Given the description of an element on the screen output the (x, y) to click on. 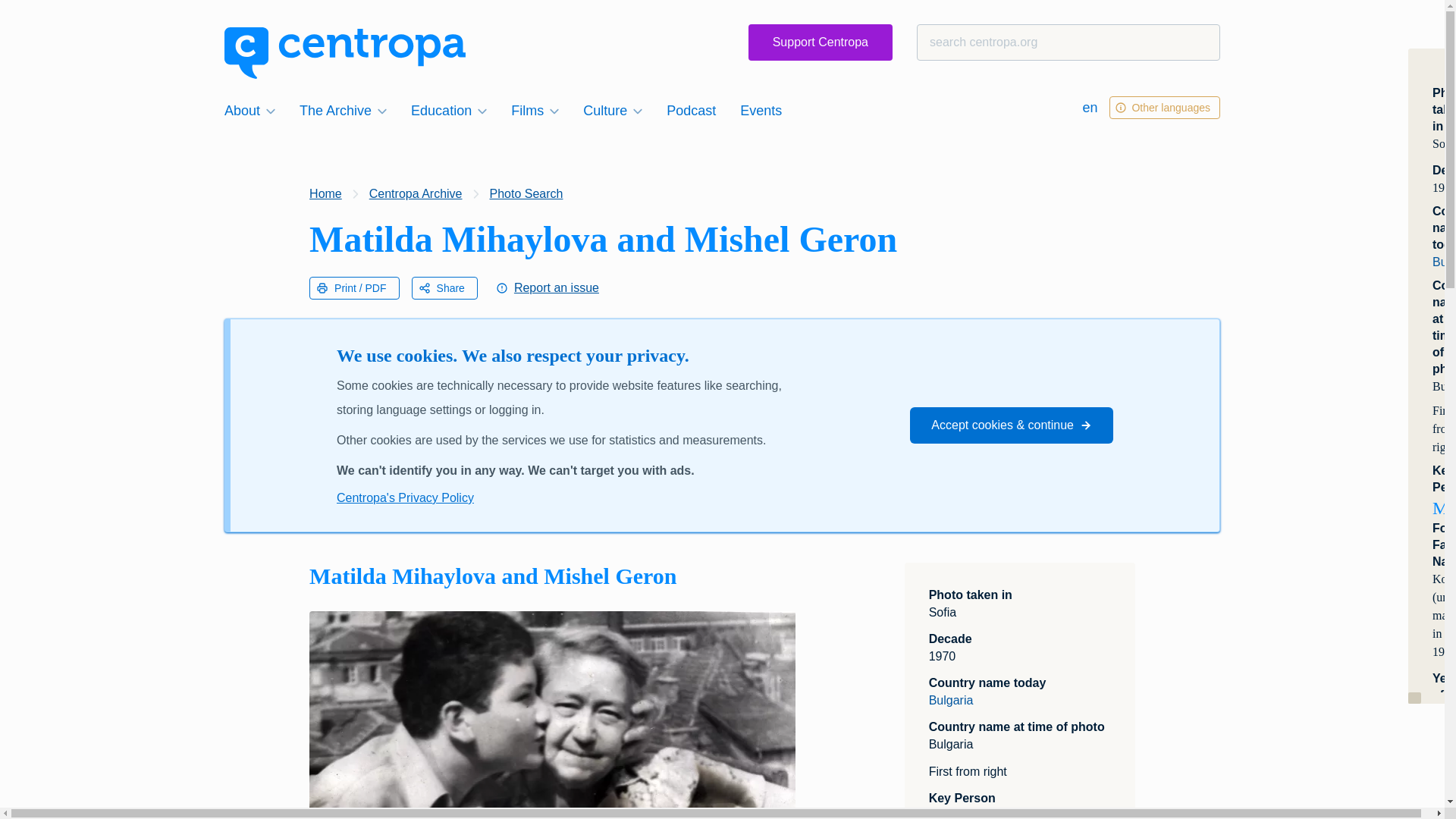
Events (760, 110)
About (249, 110)
Support Centropa (820, 42)
The Archive (343, 110)
Culture (611, 110)
Search (40, 18)
Education (448, 110)
Films (534, 110)
Podcast (691, 110)
Matilda Mihaylova and Mishel Geron (551, 714)
Support Centropa (820, 42)
